Given the description of an element on the screen output the (x, y) to click on. 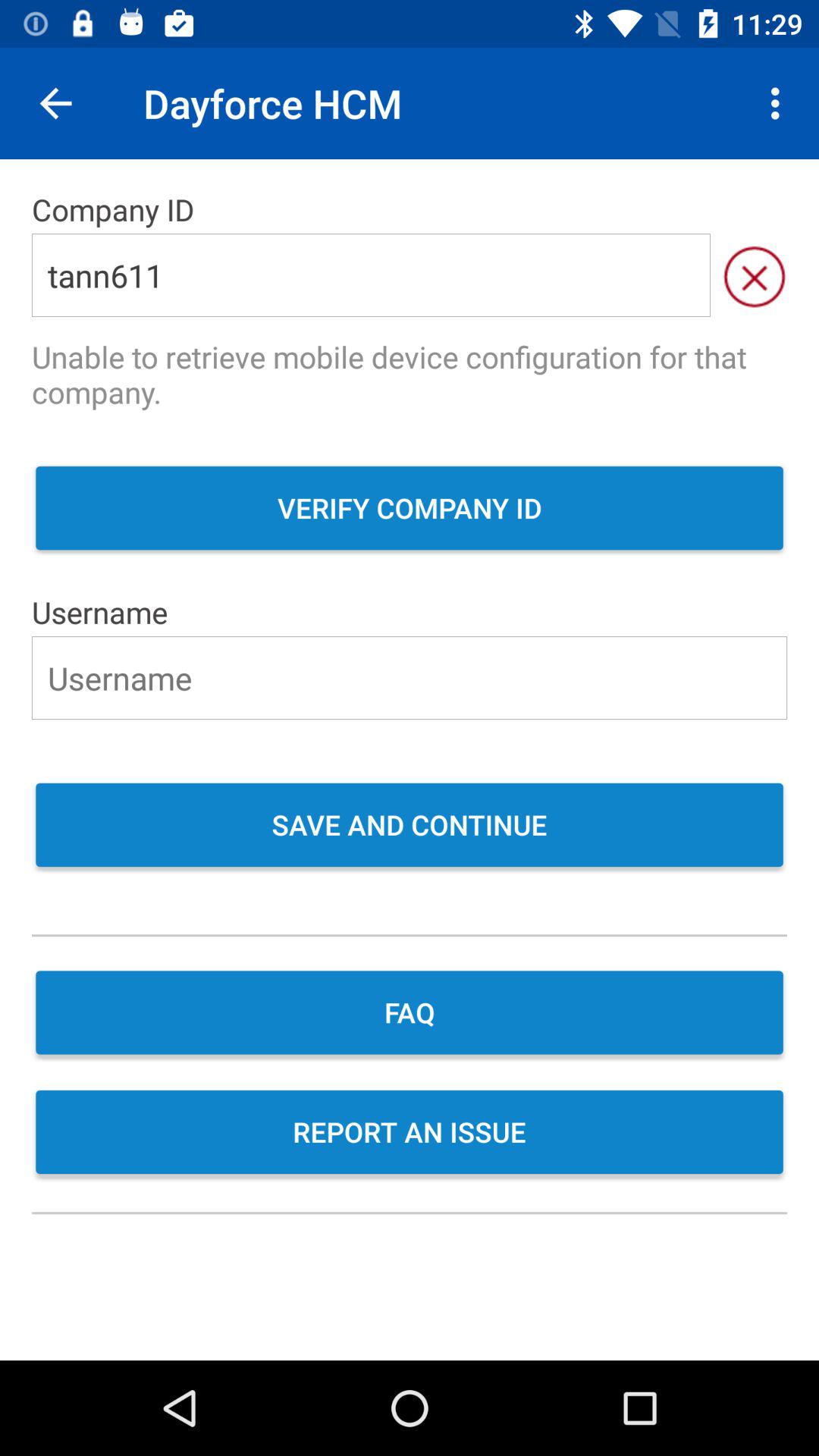
press the item below the faq item (409, 1133)
